Given the description of an element on the screen output the (x, y) to click on. 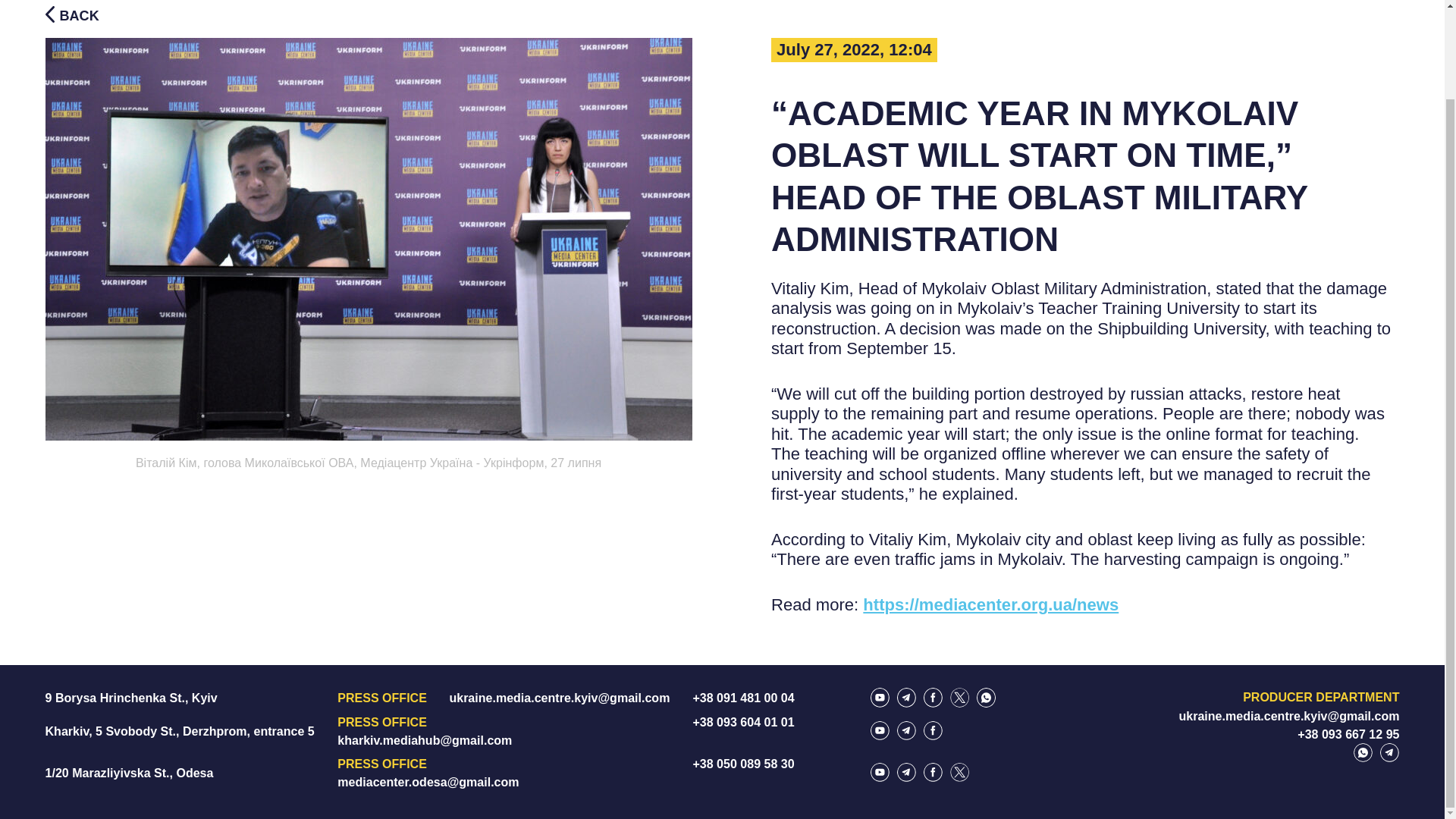
youtube (879, 696)
9 Borysa Hrinchenka St., Kyiv (130, 697)
BACK (72, 13)
